Given the description of an element on the screen output the (x, y) to click on. 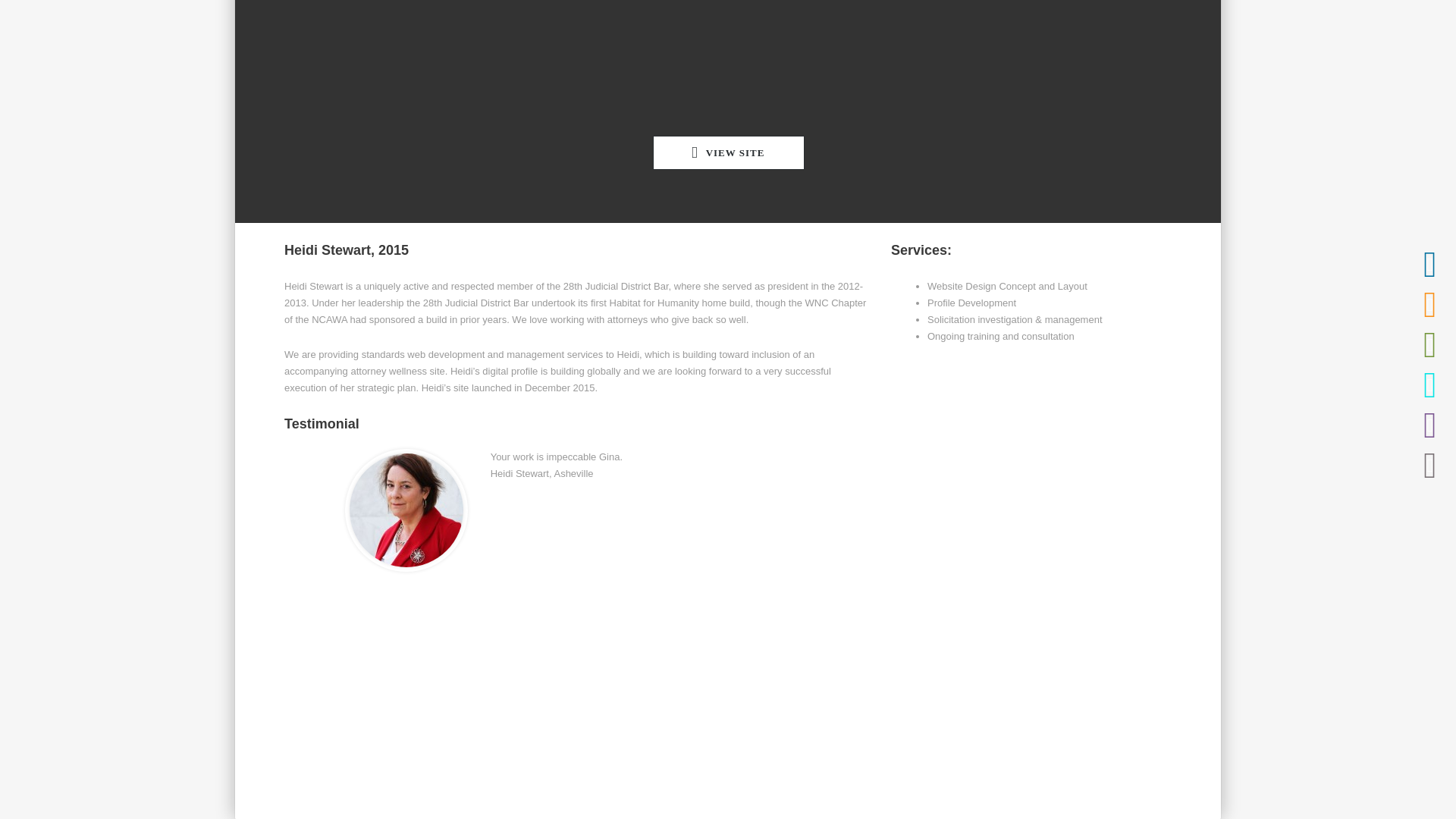
VIEW SITE (728, 152)
